Given the description of an element on the screen output the (x, y) to click on. 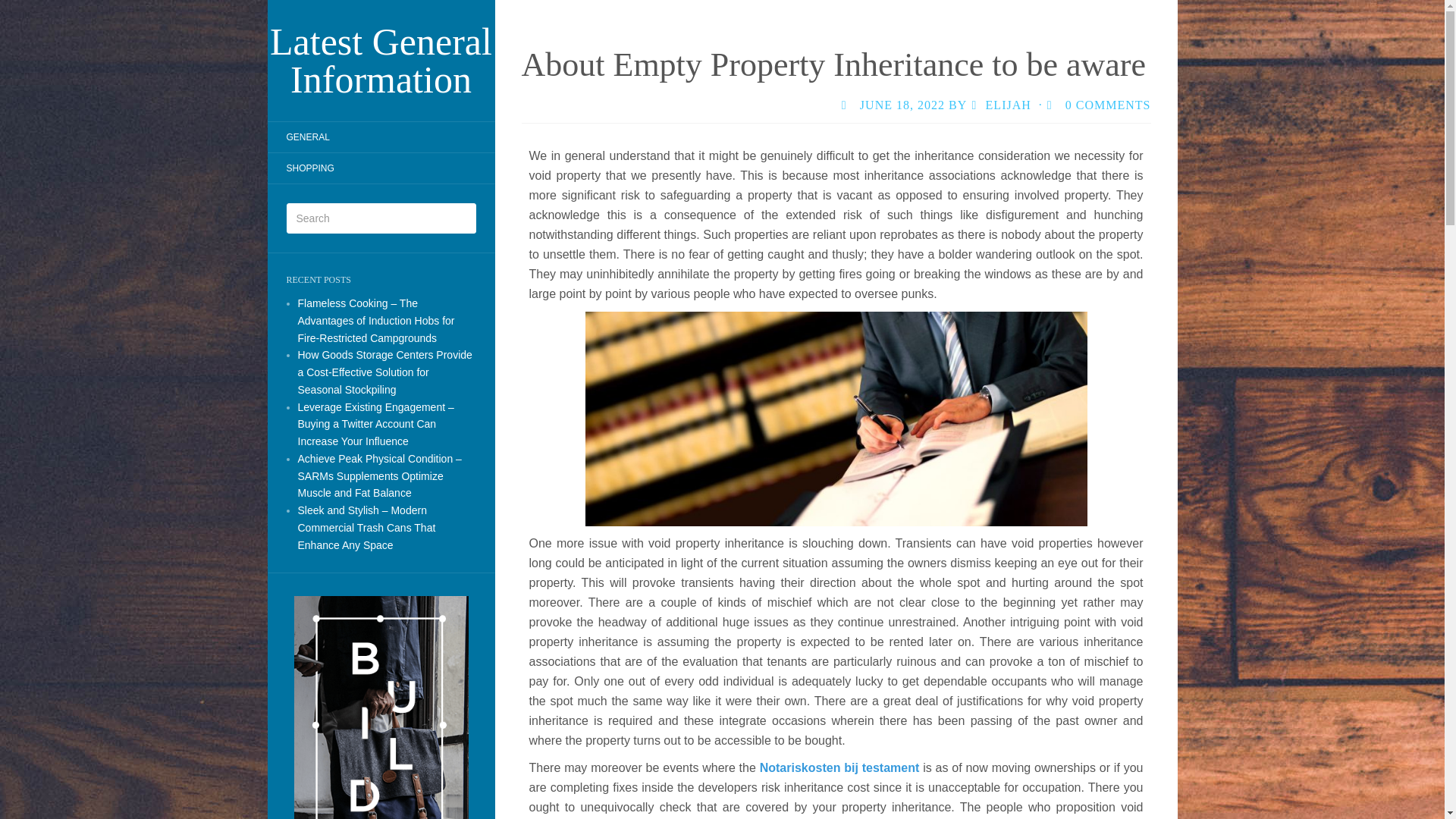
Latest General Information (380, 60)
SHOPPING (309, 167)
Latest General Information (380, 60)
Search (22, 11)
GENERAL (306, 136)
